Given the description of an element on the screen output the (x, y) to click on. 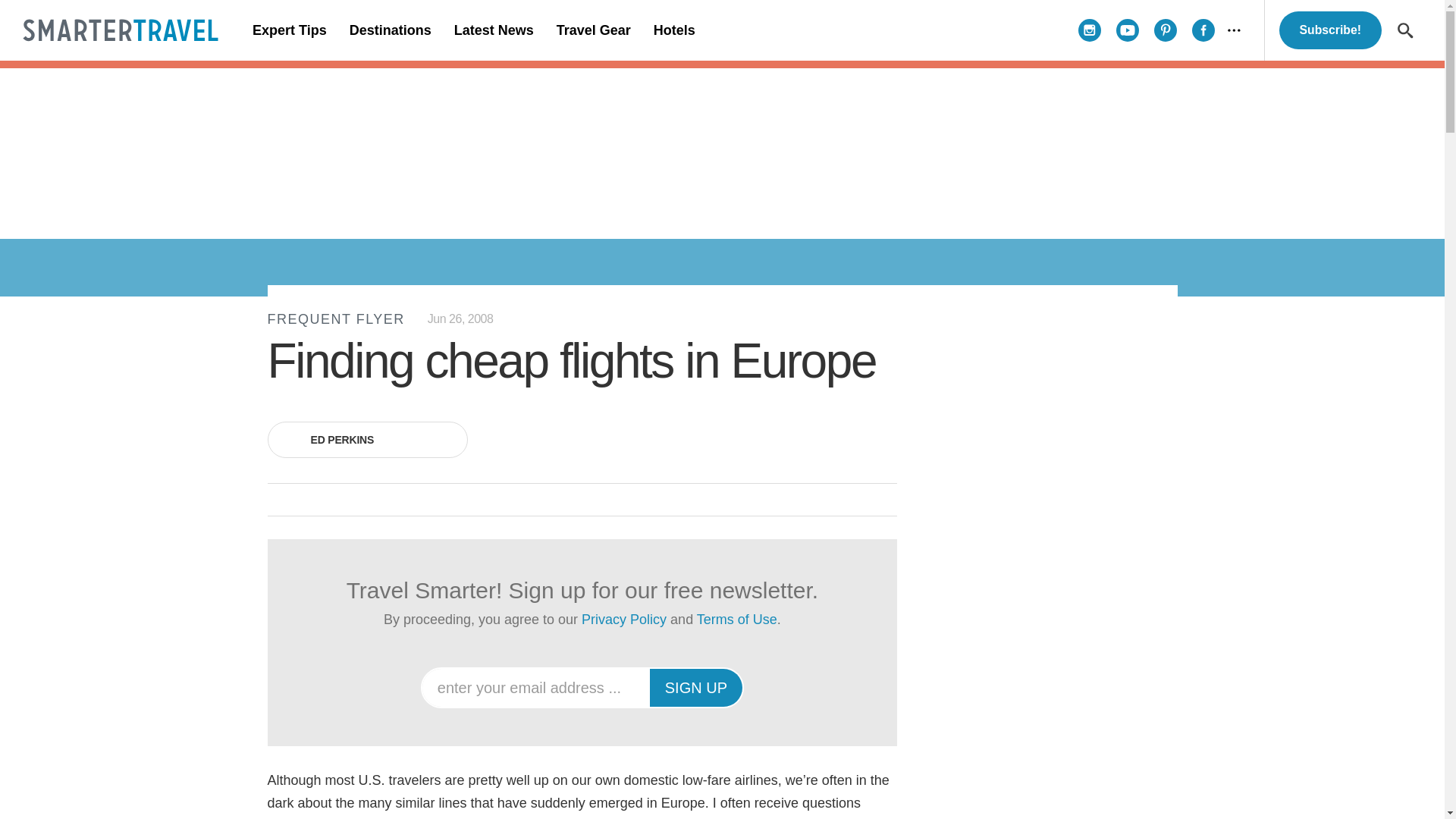
Expert Tips (289, 30)
Travel Gear (593, 30)
Destinations (389, 30)
Latest News (493, 30)
Hotels (674, 30)
Subscribe! (1330, 30)
